Given the description of an element on the screen output the (x, y) to click on. 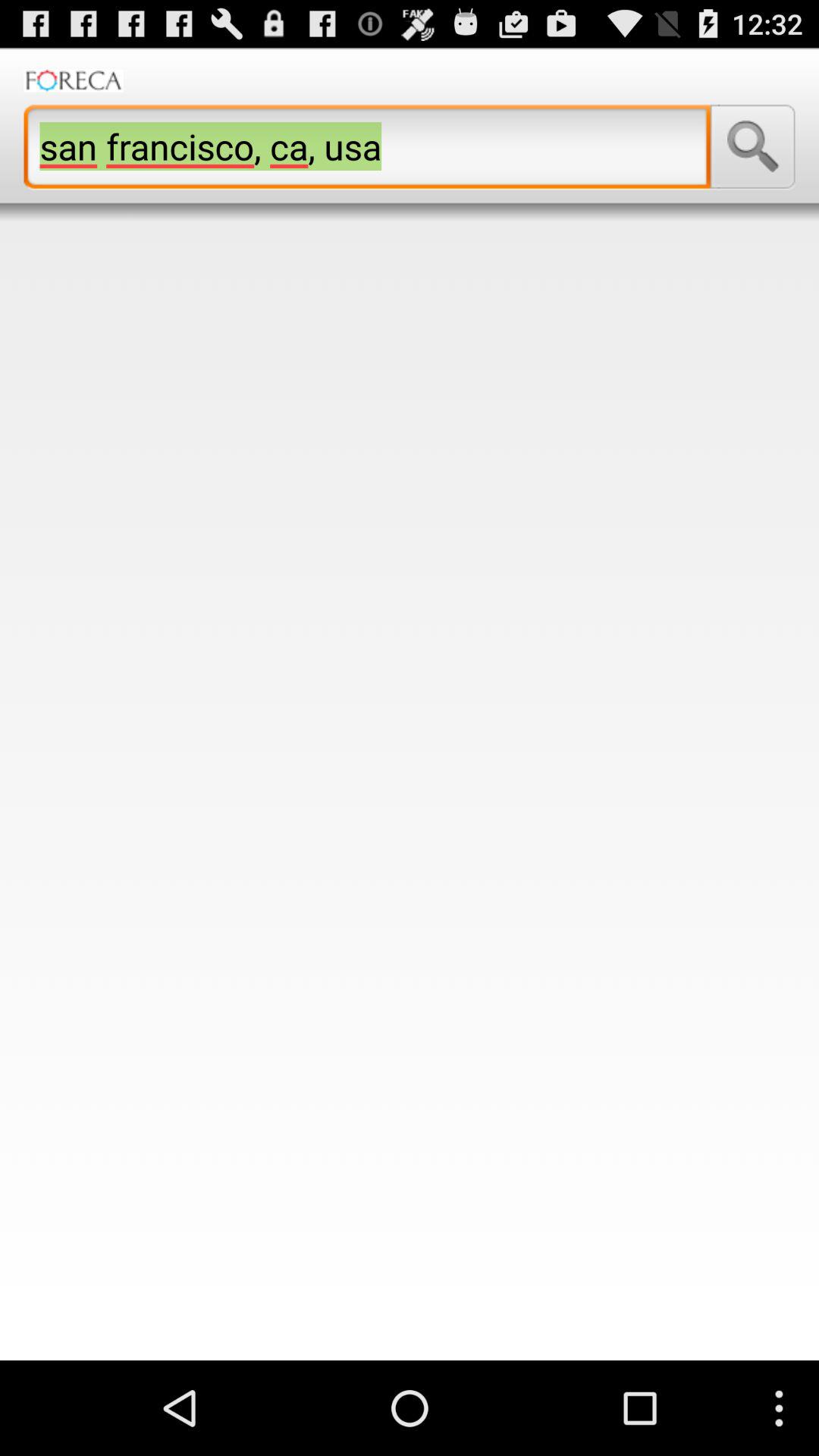
press the item at the center (409, 790)
